Given the description of an element on the screen output the (x, y) to click on. 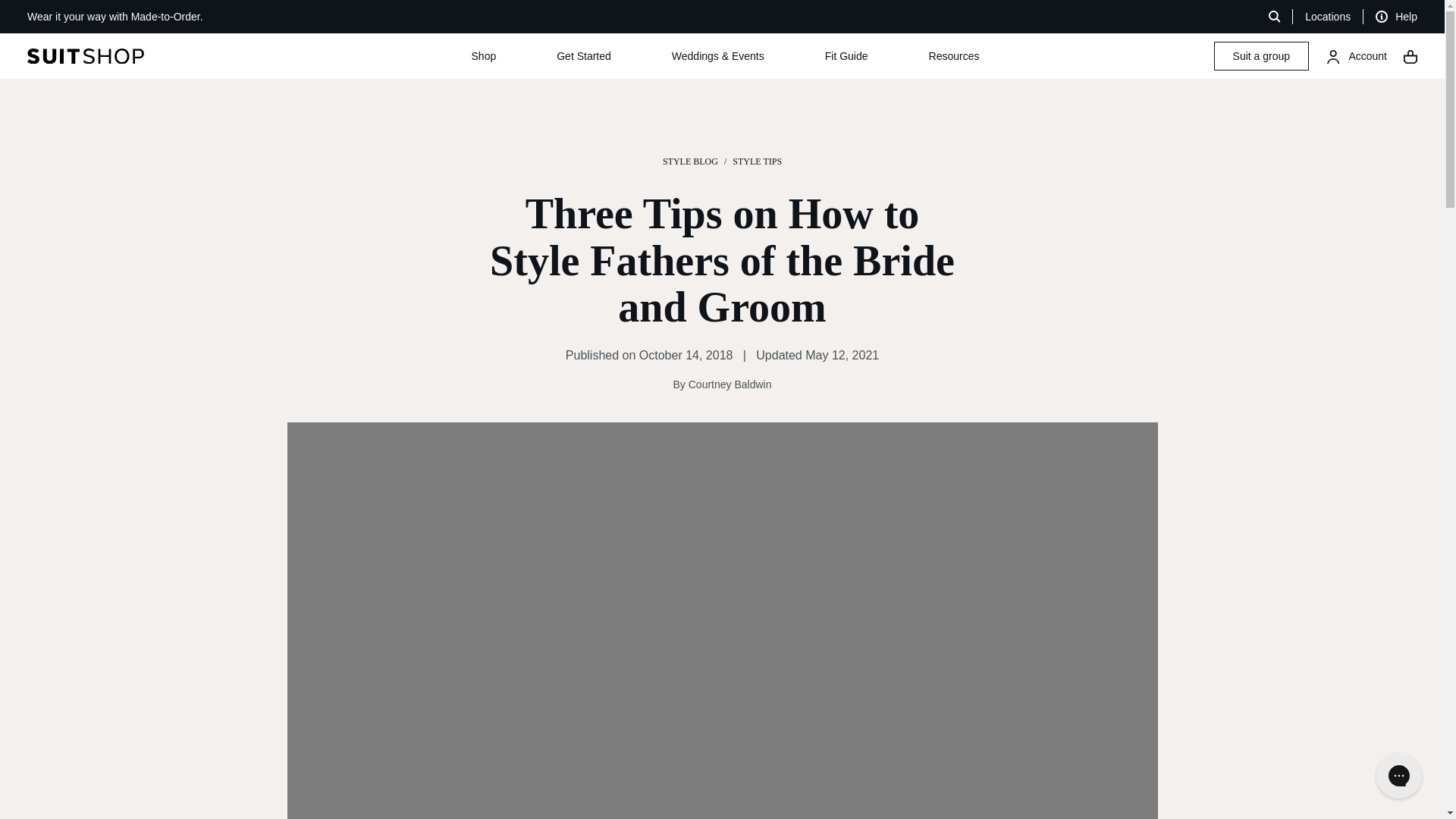
Locations (1327, 16)
Wear it your way with Made-to-Order. (115, 16)
Gorgias live chat messenger (1398, 775)
Help (1395, 16)
Shop (484, 56)
SuitShop (138, 56)
